Given the description of an element on the screen output the (x, y) to click on. 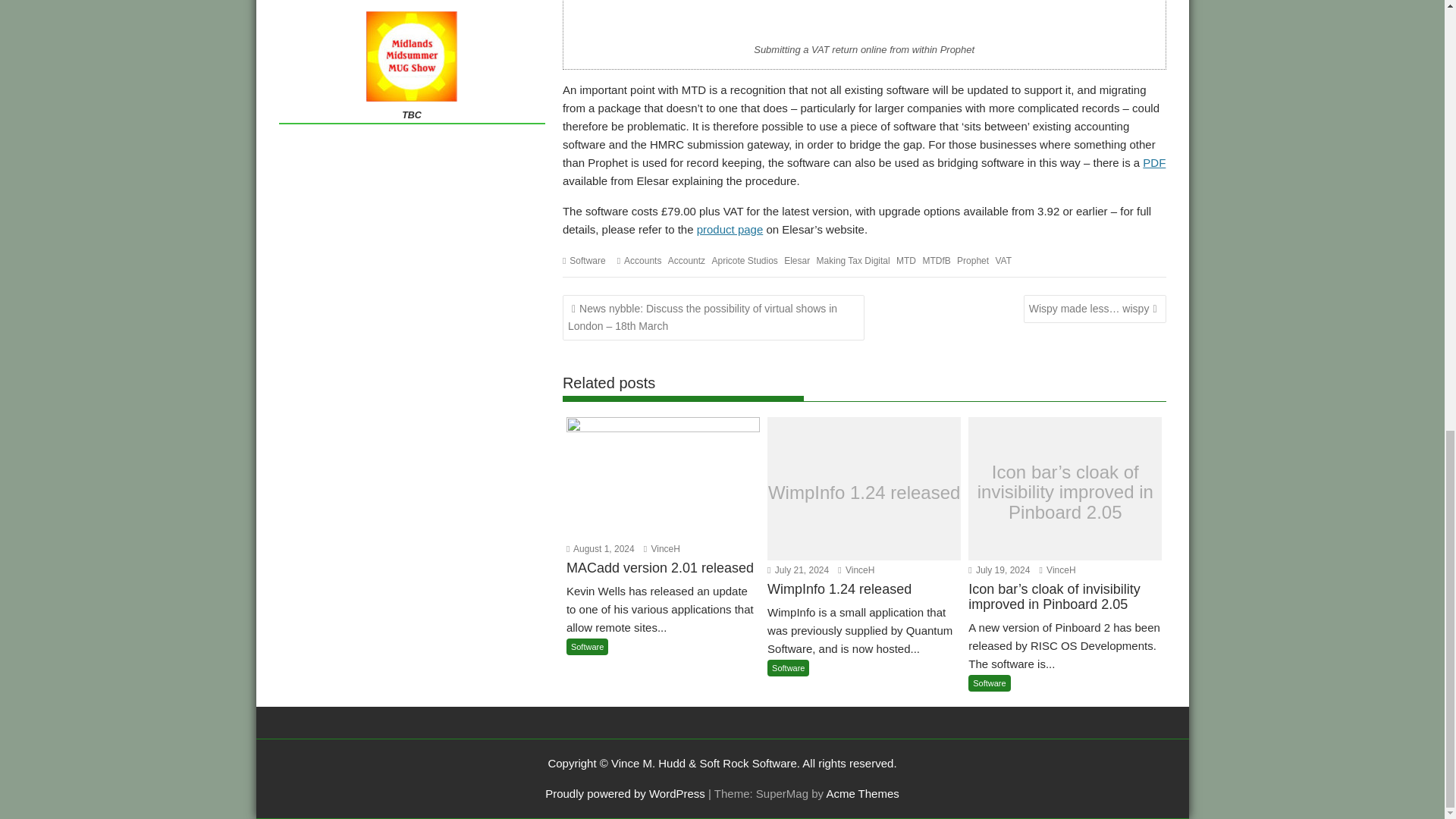
Accountz (686, 260)
VinceH (856, 570)
Accounts (642, 260)
VinceH (1057, 570)
Prophet (972, 260)
MTD (905, 260)
Software (587, 260)
VAT (1002, 260)
MACadd version 2.01 released (663, 578)
VinceH (661, 548)
product page (729, 228)
August 1, 2024 (600, 548)
PDF (1154, 162)
Making Tax Digital (852, 260)
MTDfB (935, 260)
